Given the description of an element on the screen output the (x, y) to click on. 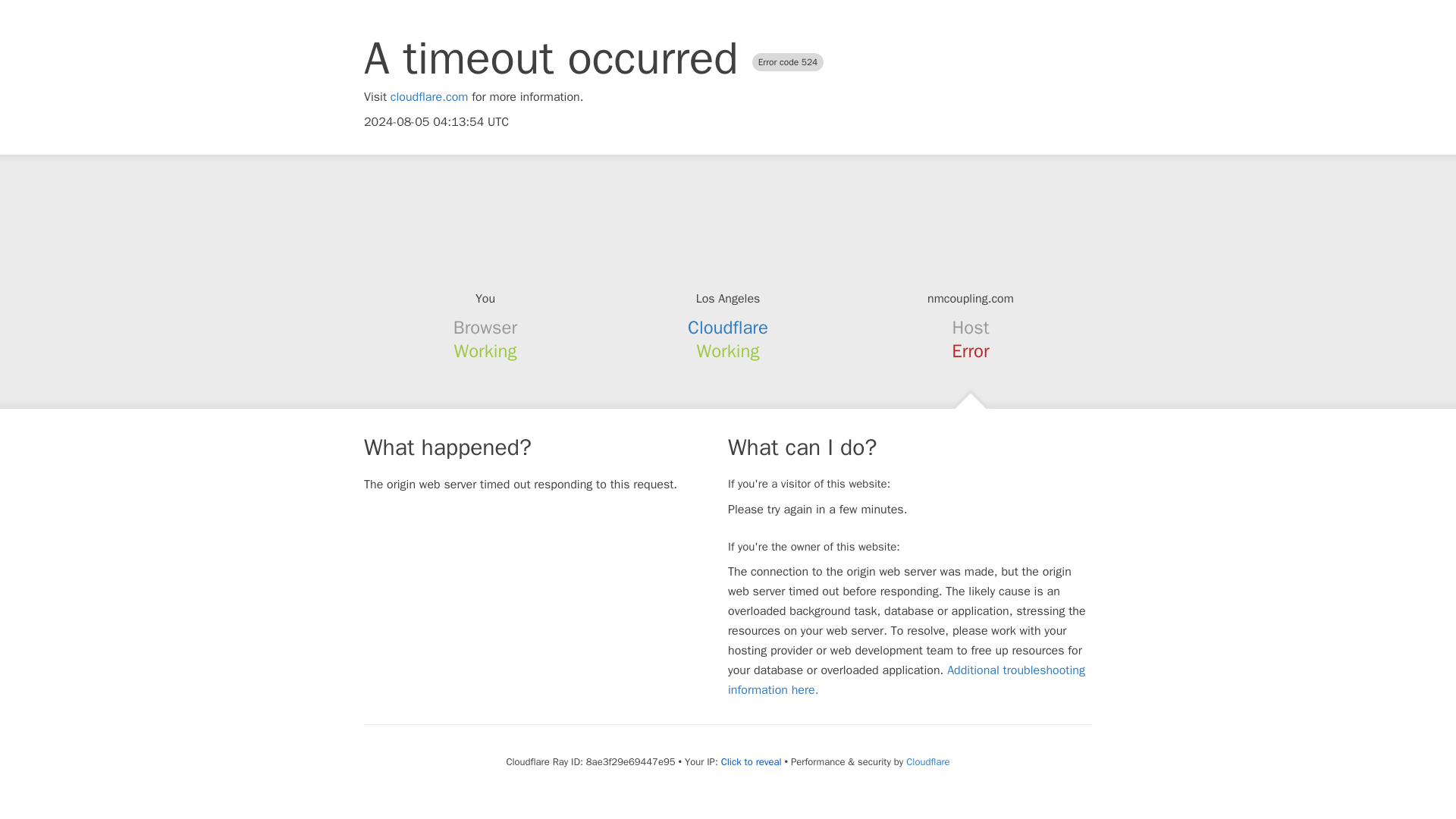
Cloudflare (727, 327)
cloudflare.com (429, 96)
Click to reveal (750, 762)
Additional troubleshooting information here. (906, 679)
Cloudflare (927, 761)
